Given the description of an element on the screen output the (x, y) to click on. 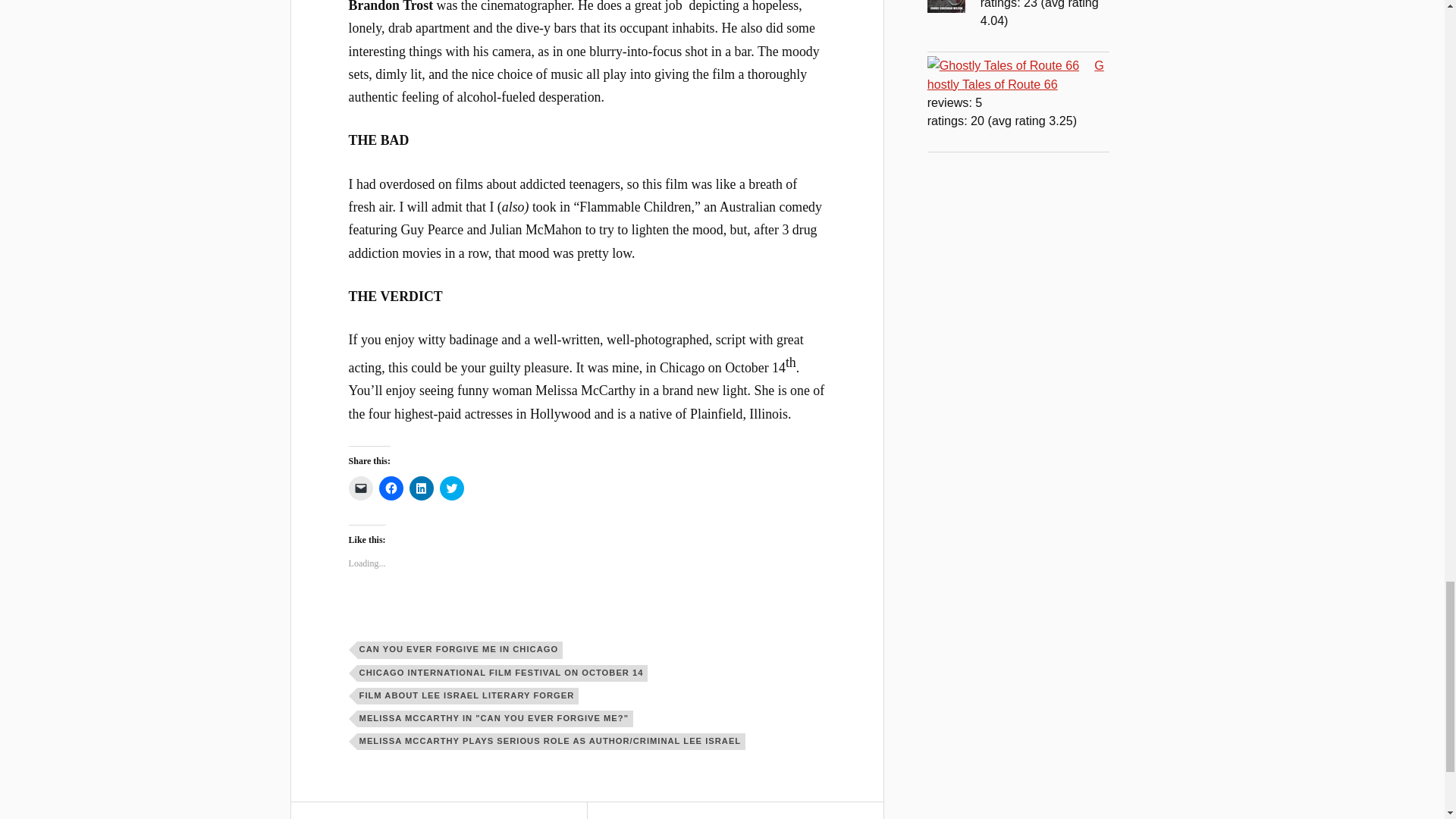
Click to share on Facebook (390, 487)
Click to share on LinkedIn (421, 487)
Click to share on Twitter (451, 487)
Click to email a link to a friend (360, 487)
Ghostly Tales of Route 66 (1010, 65)
CAN YOU EVER FORGIVE ME IN CHICAGO (459, 649)
Red is for Rage (953, 8)
